Given the description of an element on the screen output the (x, y) to click on. 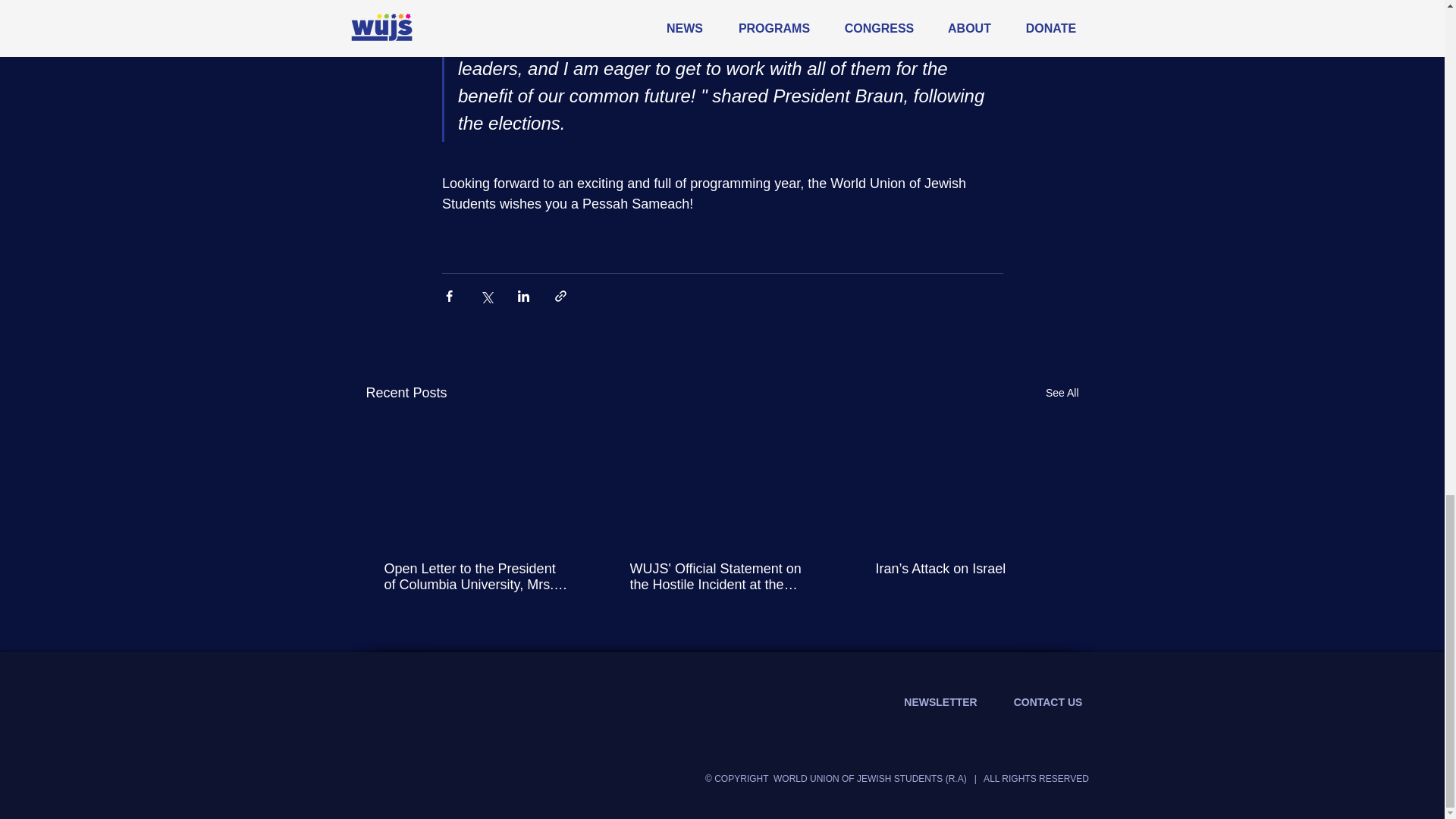
See All (1061, 392)
CONTACT US (1048, 702)
NEWSLETTER (939, 702)
